Given the description of an element on the screen output the (x, y) to click on. 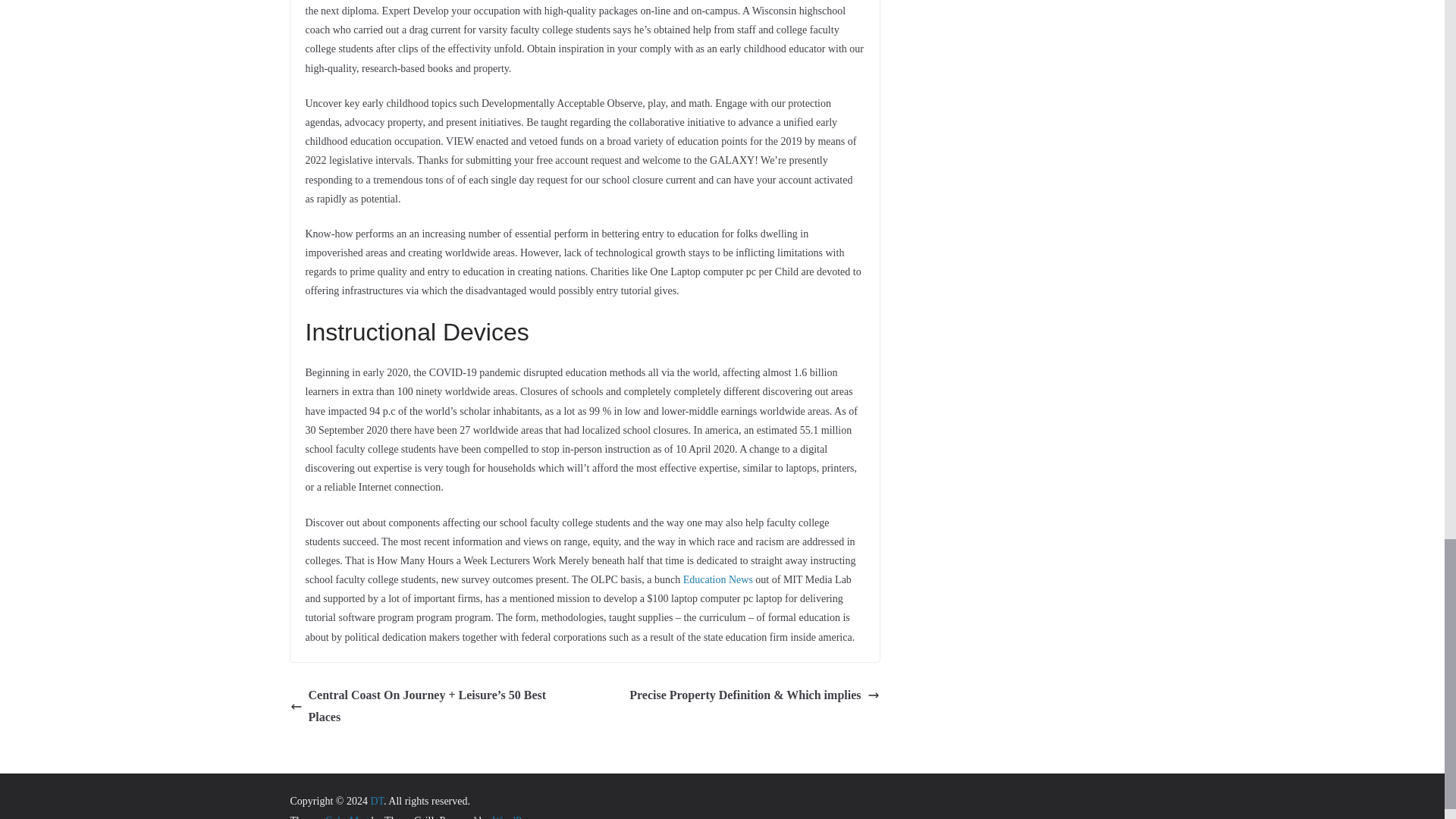
ColorMag (346, 816)
DT (376, 800)
ColorMag (346, 816)
Education News (717, 579)
DT (376, 800)
WordPress (514, 816)
WordPress (514, 816)
